Given the description of an element on the screen output the (x, y) to click on. 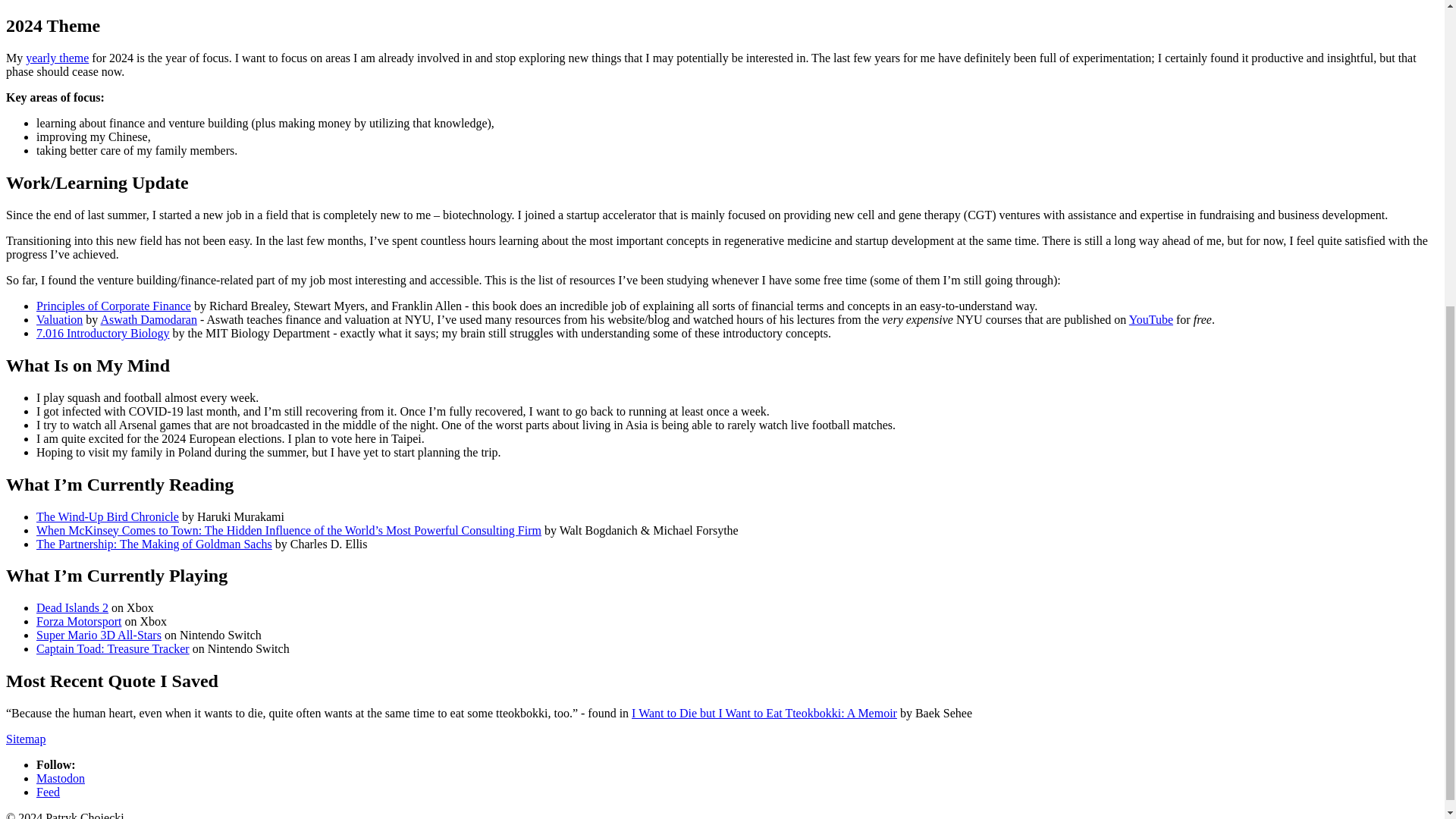
YouTube (1151, 318)
I Want to Die but I Want to Eat Tteokbokki: A Memoir (763, 712)
yearly theme (57, 57)
Captain Toad: Treasure Tracker (112, 648)
Forza Motorsport (78, 621)
Super Mario 3D All-Stars (98, 634)
Aswath Damodaran (148, 318)
7.016 Introductory Biology (103, 332)
Sitemap (25, 738)
Valuation (59, 318)
Mastodon (60, 778)
Principles of Corporate Finance (113, 305)
The Wind-Up Bird Chronicle (107, 516)
Feed (47, 791)
Dead Islands 2 (71, 607)
